Given the description of an element on the screen output the (x, y) to click on. 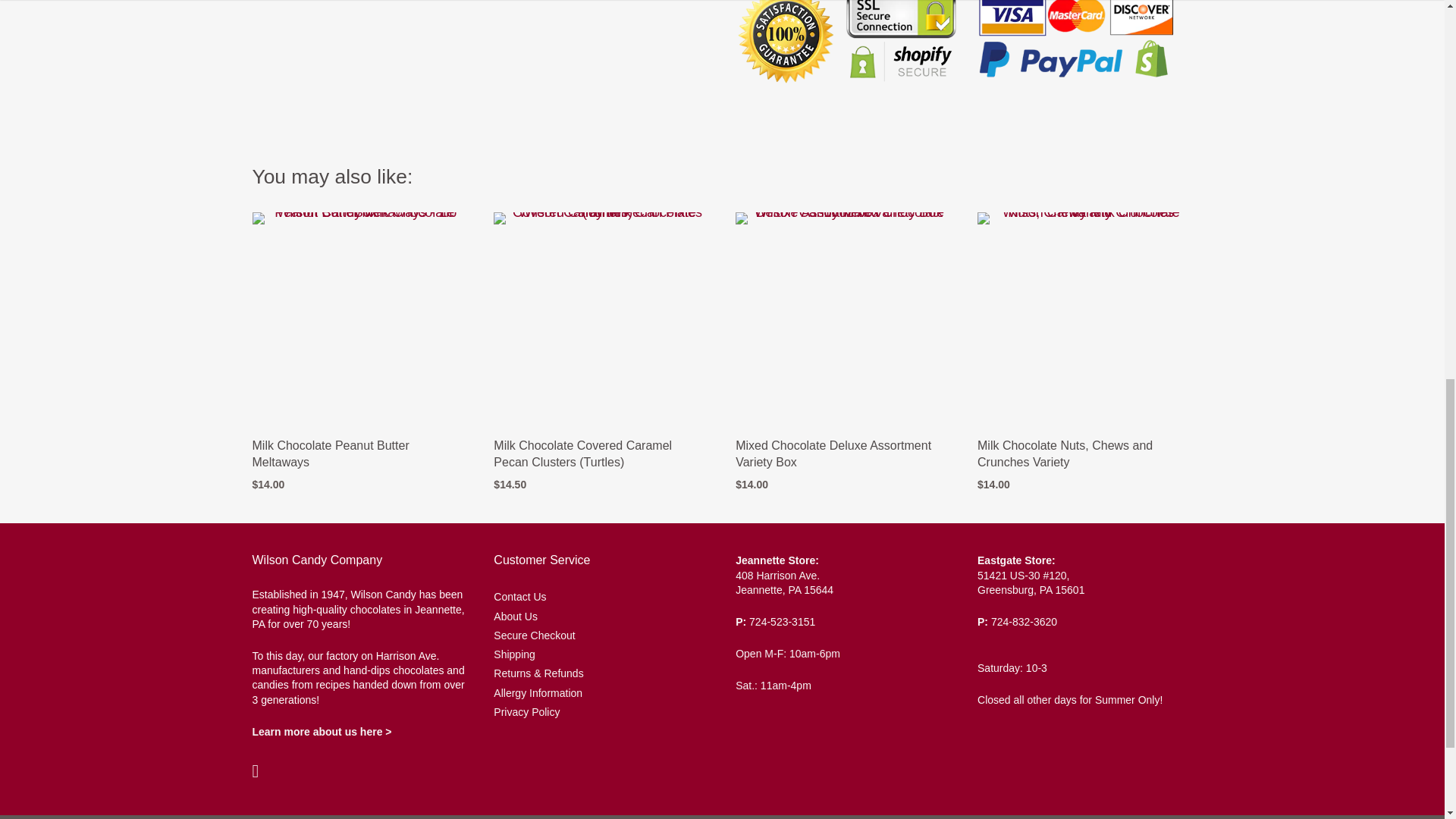
Milk Chocolate Peanut Butter Meltaways (330, 453)
Milk Chocolate Nuts, Chews and Crunches Variety (1064, 453)
Wilson Candy Milk Chocolate Nuts, Chews and Crunches Variety (1084, 319)
About Us (321, 731)
Mixed Chocolate Deluxe Assortment Variety Box (833, 453)
